Given the description of an element on the screen output the (x, y) to click on. 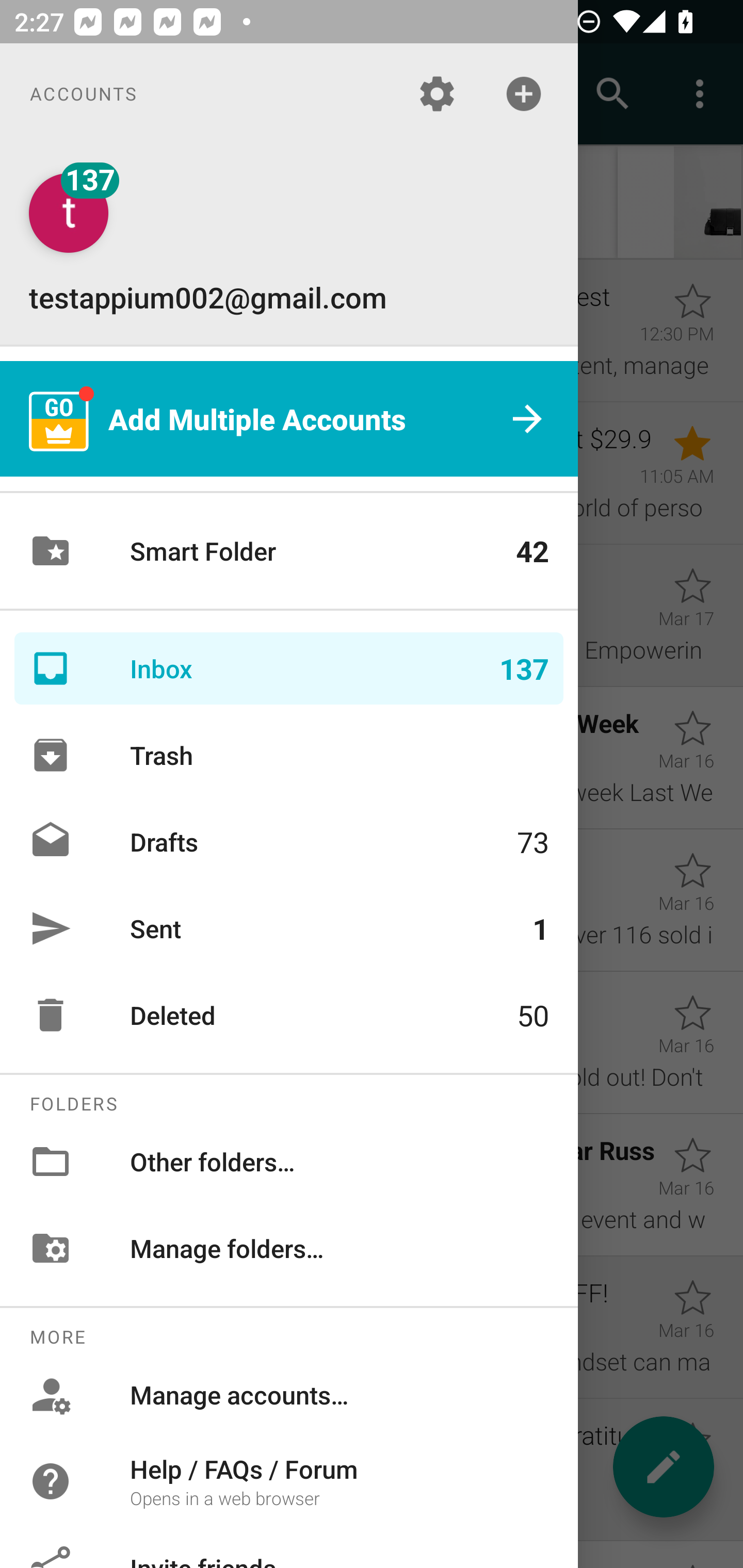
testappium002@gmail.com (289, 244)
Add Multiple Accounts (289, 418)
Smart Folder 42 (289, 551)
Inbox 137 (289, 668)
Trash (289, 754)
Drafts 73 (289, 841)
Sent 1 (289, 928)
Deleted 50 (289, 1015)
Other folders… (289, 1160)
Manage folders… (289, 1248)
Manage accounts… (289, 1394)
Help / FAQs / Forum Opens in a web browser (289, 1480)
